Given the description of an element on the screen output the (x, y) to click on. 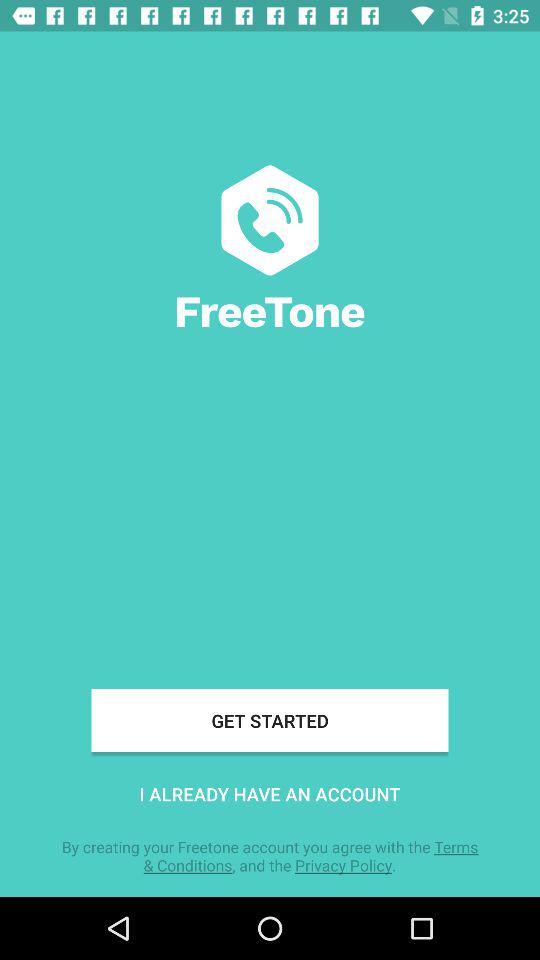
scroll until get started (269, 720)
